Given the description of an element on the screen output the (x, y) to click on. 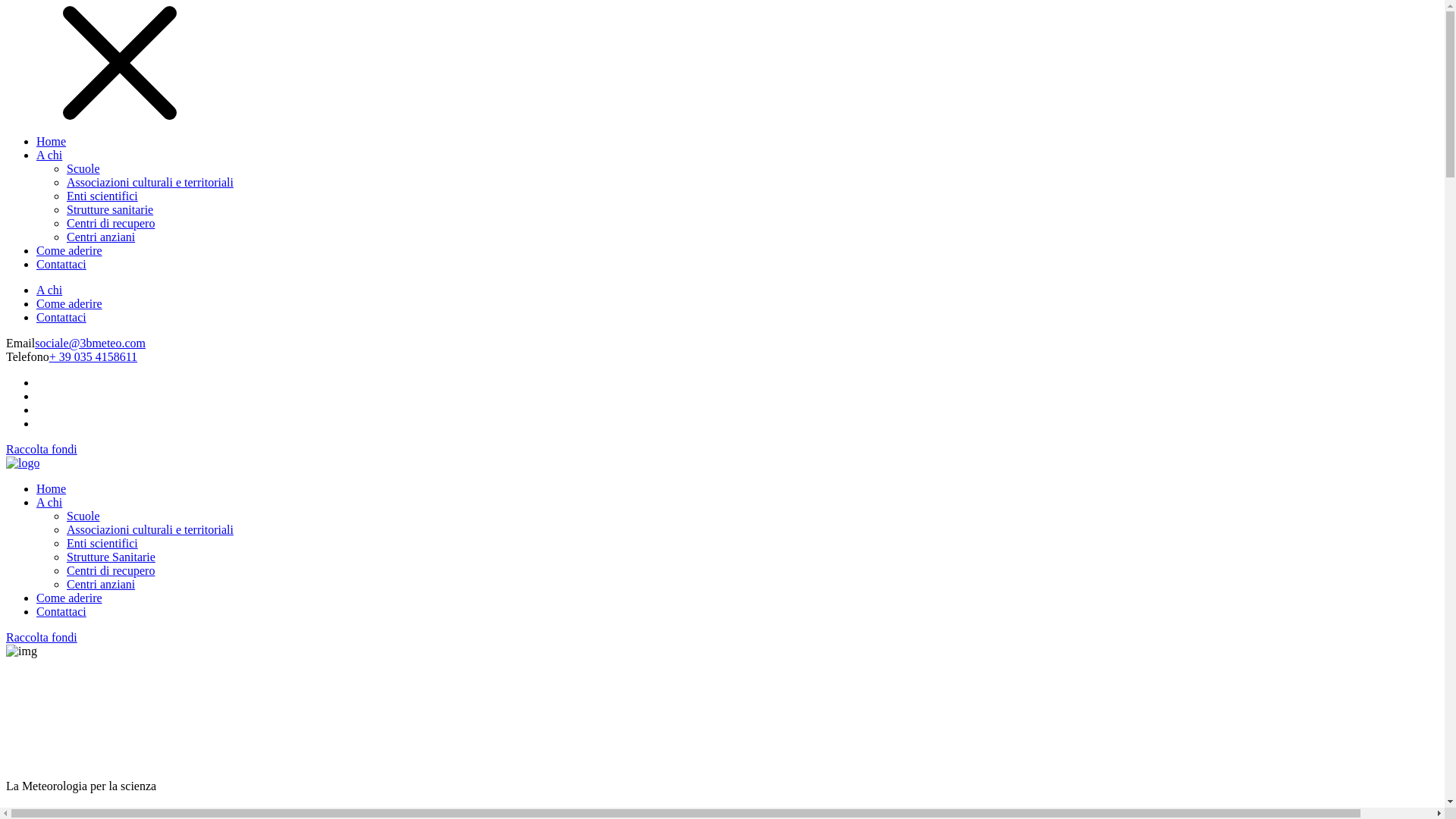
A chi Element type: text (49, 501)
A chi Element type: text (49, 289)
Scuole Element type: text (83, 515)
Come aderire Element type: text (69, 250)
Contattaci Element type: text (61, 263)
Come aderire Element type: text (69, 303)
Enti scientifici Element type: text (102, 542)
Enti scientifici Element type: text (102, 195)
Contattaci Element type: text (61, 316)
Associazioni culturali e territoriali Element type: text (149, 529)
Centri anziani Element type: text (100, 583)
Strutture Sanitarie Element type: text (110, 556)
sociale@3bmeteo.com Element type: text (89, 342)
+ 39 035 4158611 Element type: text (93, 356)
Come aderire Element type: text (69, 597)
Contattaci Element type: text (61, 611)
A chi Element type: text (49, 154)
Raccolta fondi Element type: text (722, 637)
Home Element type: text (50, 488)
Centri anziani Element type: text (100, 236)
Scuole Element type: text (83, 168)
Strutture sanitarie Element type: text (109, 209)
Home Element type: text (50, 140)
Associazioni culturali e territoriali Element type: text (149, 181)
Centri di recupero Element type: text (110, 222)
Centri di recupero Element type: text (110, 570)
Raccolta fondi Element type: text (41, 448)
